Given the description of an element on the screen output the (x, y) to click on. 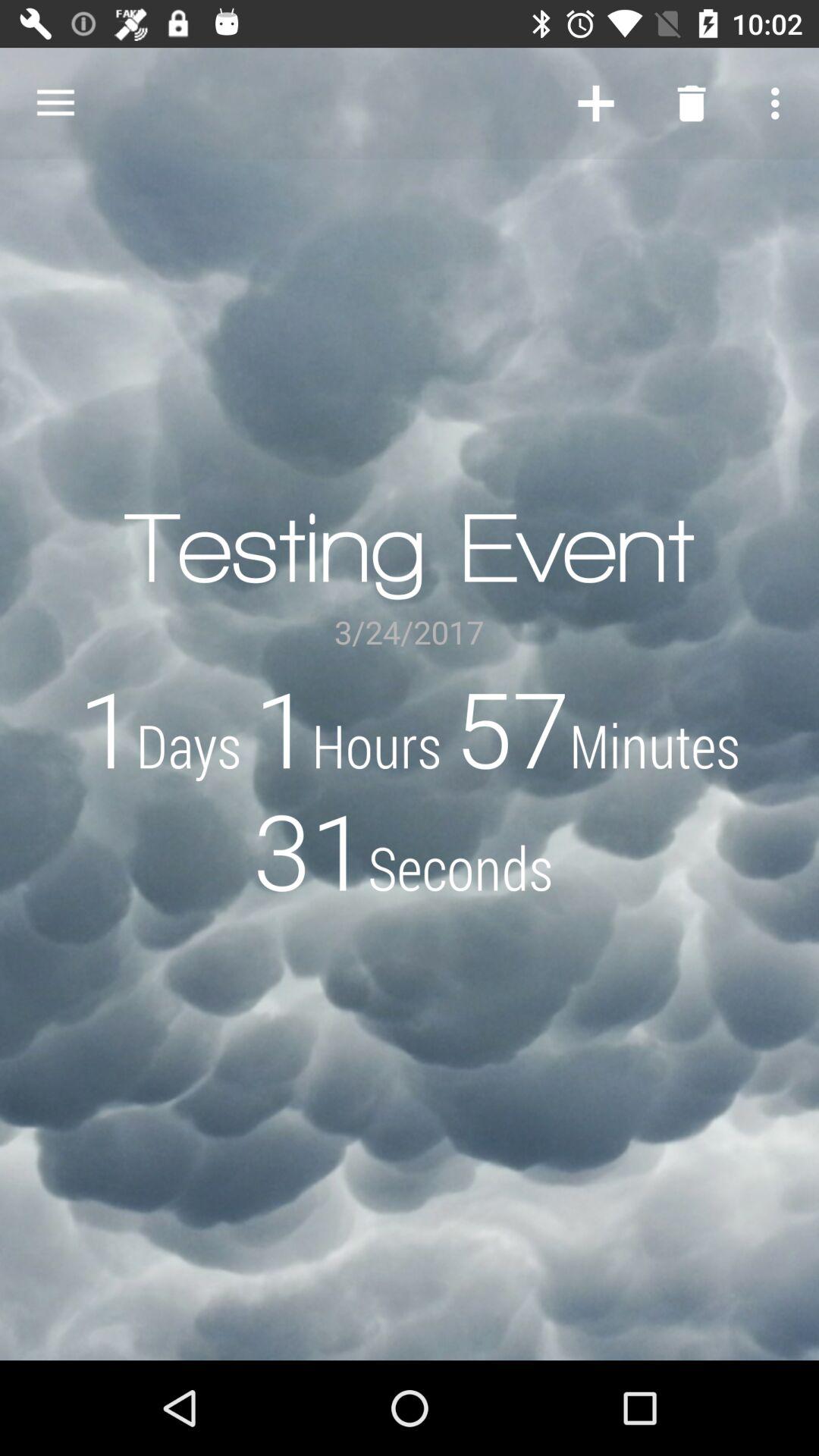
press the item above testing event (691, 103)
